Given the description of an element on the screen output the (x, y) to click on. 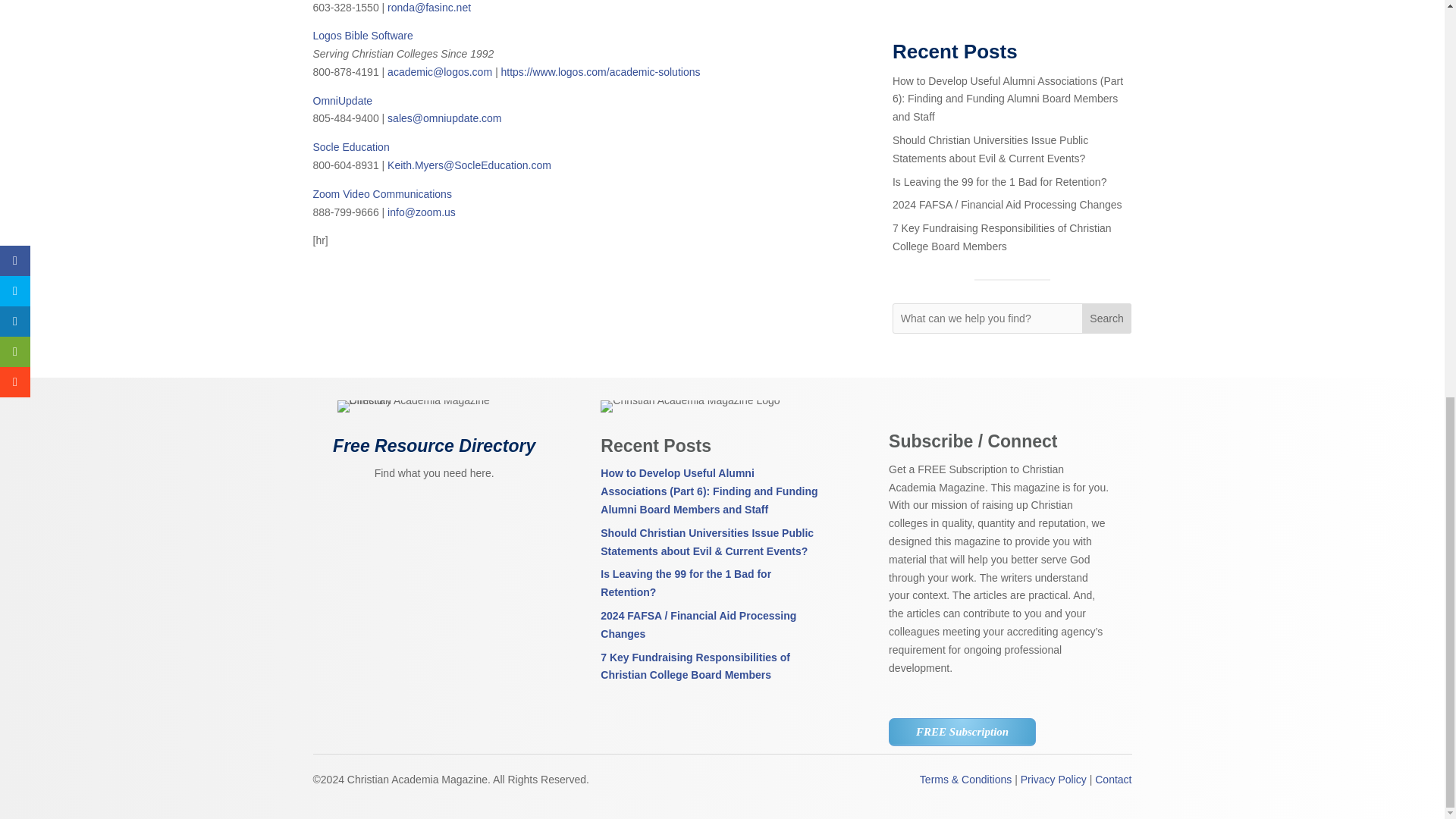
CAM-Directory-Web (434, 406)
ChristianAcademiaMagazine (688, 406)
